Given the description of an element on the screen output the (x, y) to click on. 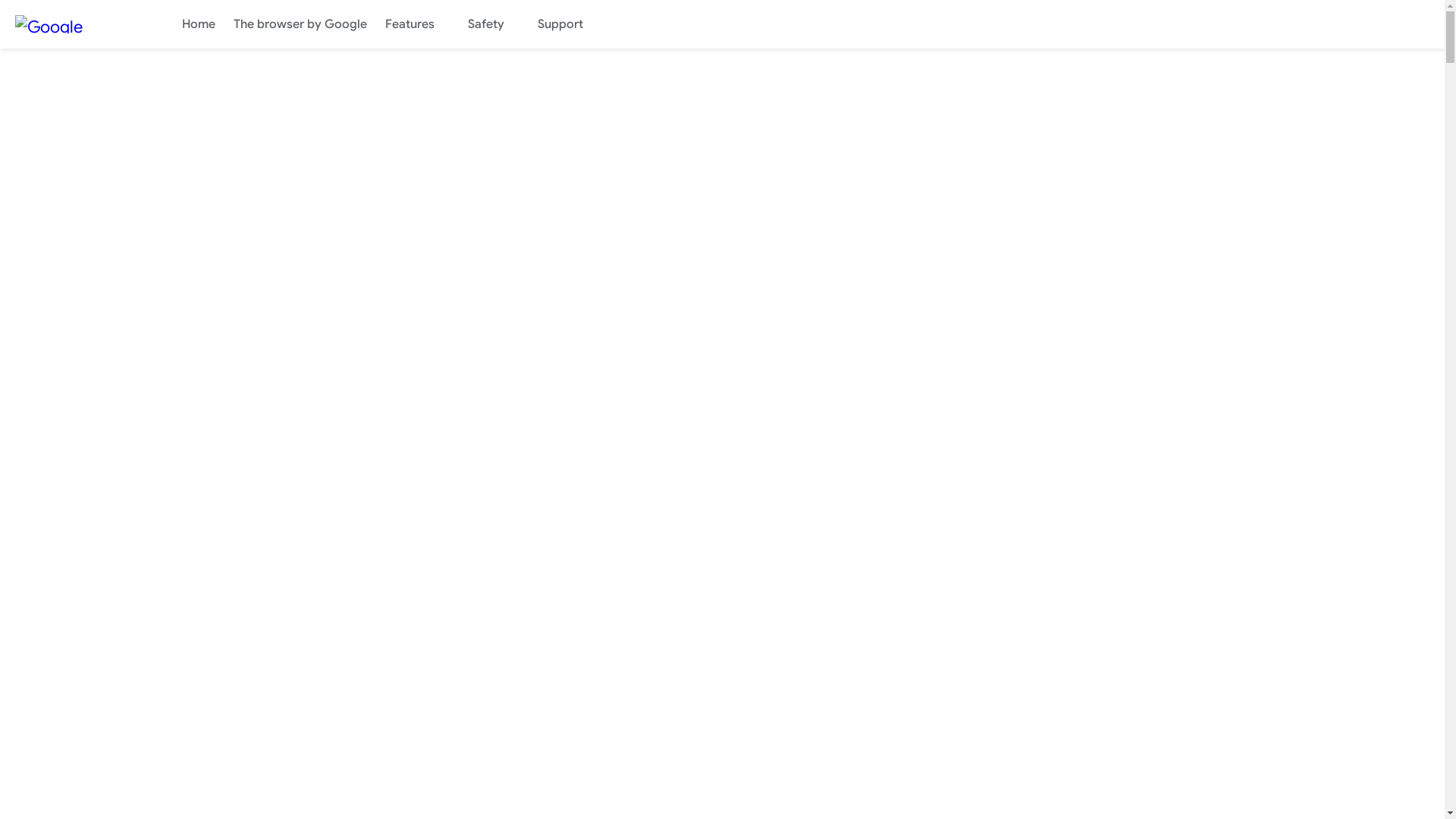
Features Element type: text (417, 23)
Google Chrome Element type: hover (75, 24)
The browser by Google Element type: text (300, 23)
Support Element type: text (567, 23)
Safety Element type: text (493, 23)
Home Element type: text (198, 23)
